Given the description of an element on the screen output the (x, y) to click on. 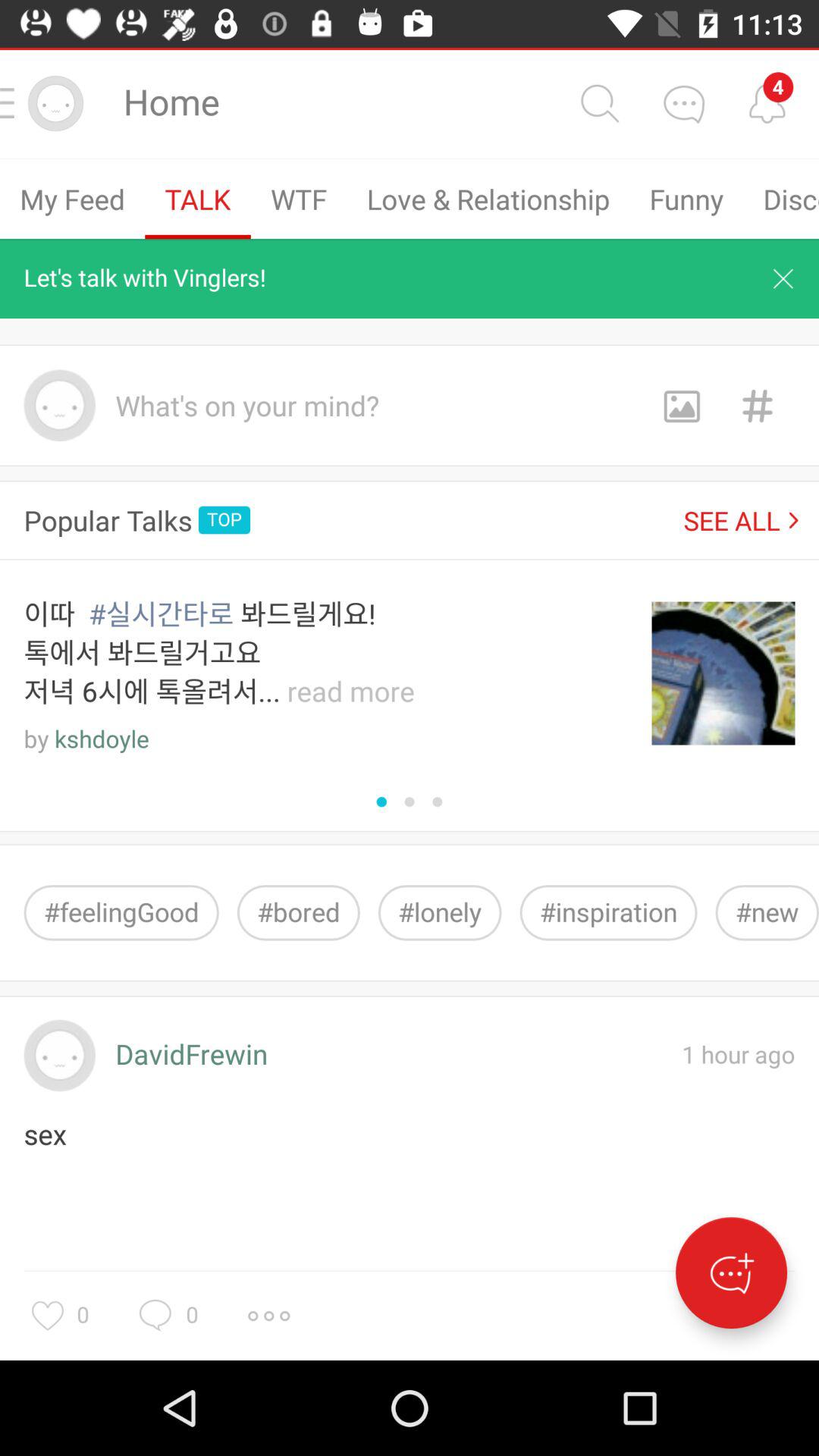
view notifications (766, 103)
